Given the description of an element on the screen output the (x, y) to click on. 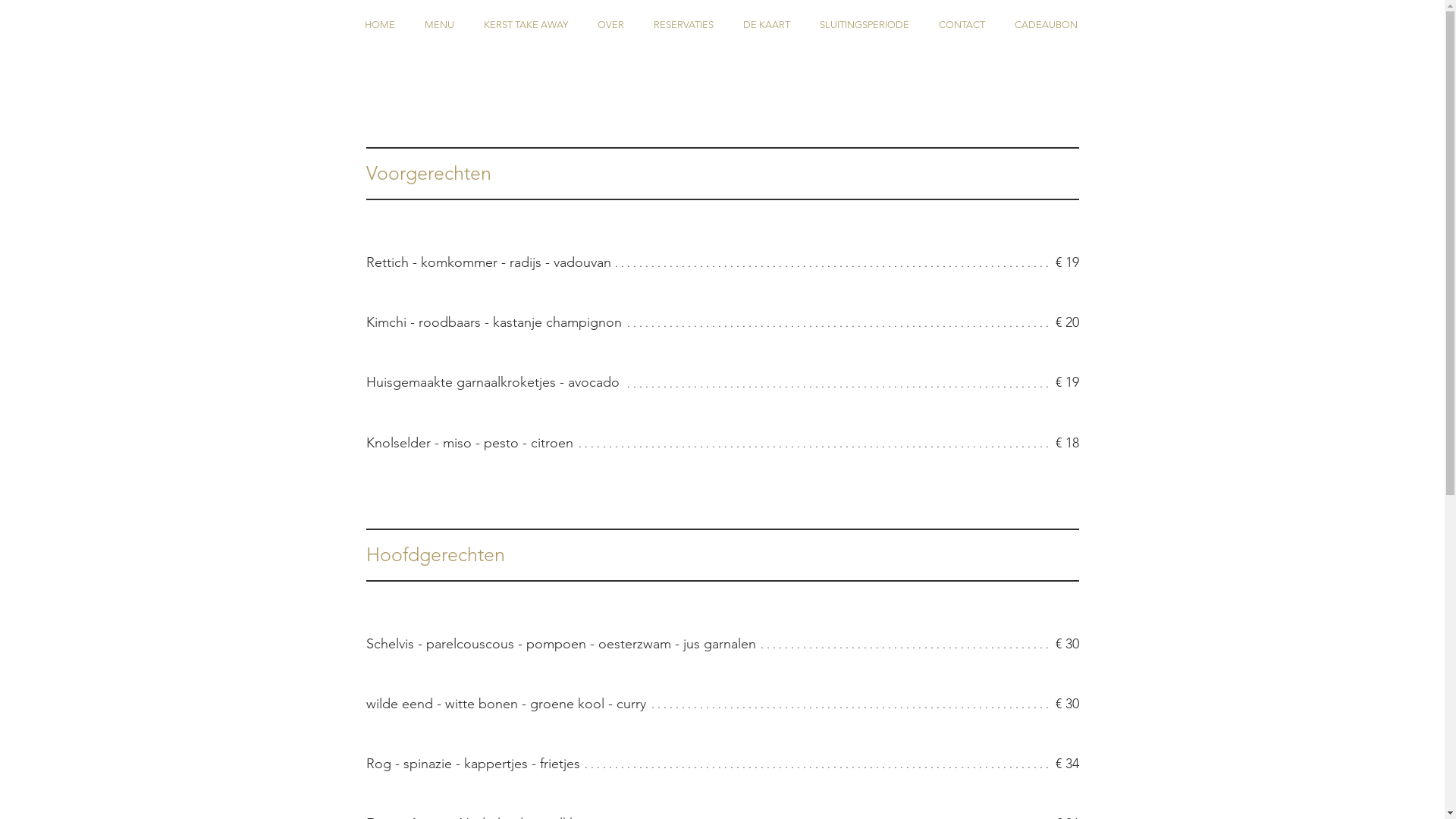
DE KAART Element type: text (766, 24)
KERST TAKE AWAY Element type: text (525, 24)
HOME Element type: text (378, 24)
OVER Element type: text (610, 24)
CADEAUBON Element type: text (1045, 24)
CONTACT Element type: text (961, 24)
MENU Element type: text (438, 24)
RESERVATIES Element type: text (683, 24)
SLUITINGSPERIODE Element type: text (864, 24)
